Given the description of an element on the screen output the (x, y) to click on. 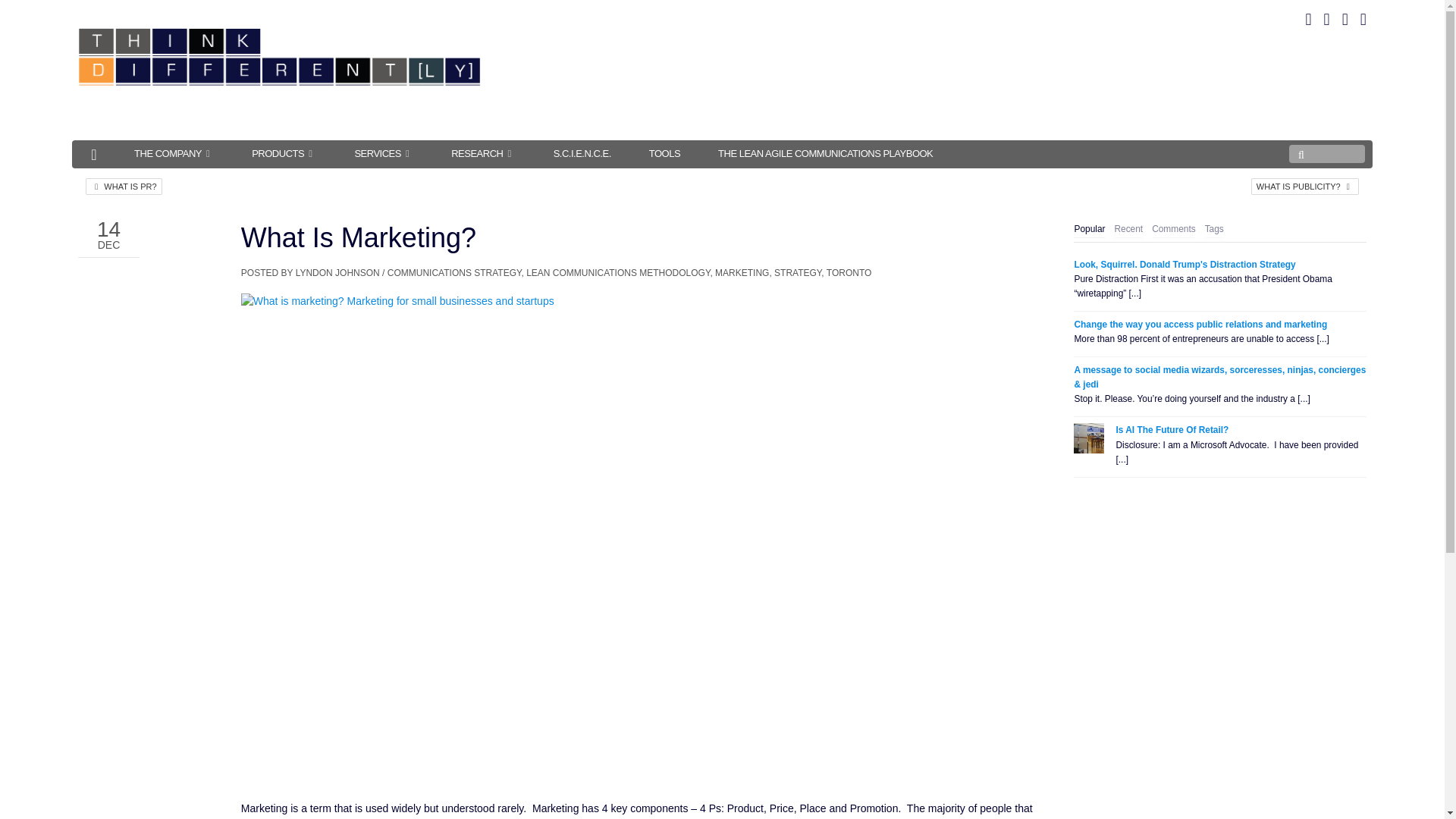
S.C.I.E.N.C.E. (582, 153)
TOOLS (664, 153)
RESEARCH (483, 153)
Posts by Lyndon Johnson (337, 272)
PRODUCTS (283, 153)
SERVICES (383, 153)
THE COMPANY (173, 153)
